Given the description of an element on the screen output the (x, y) to click on. 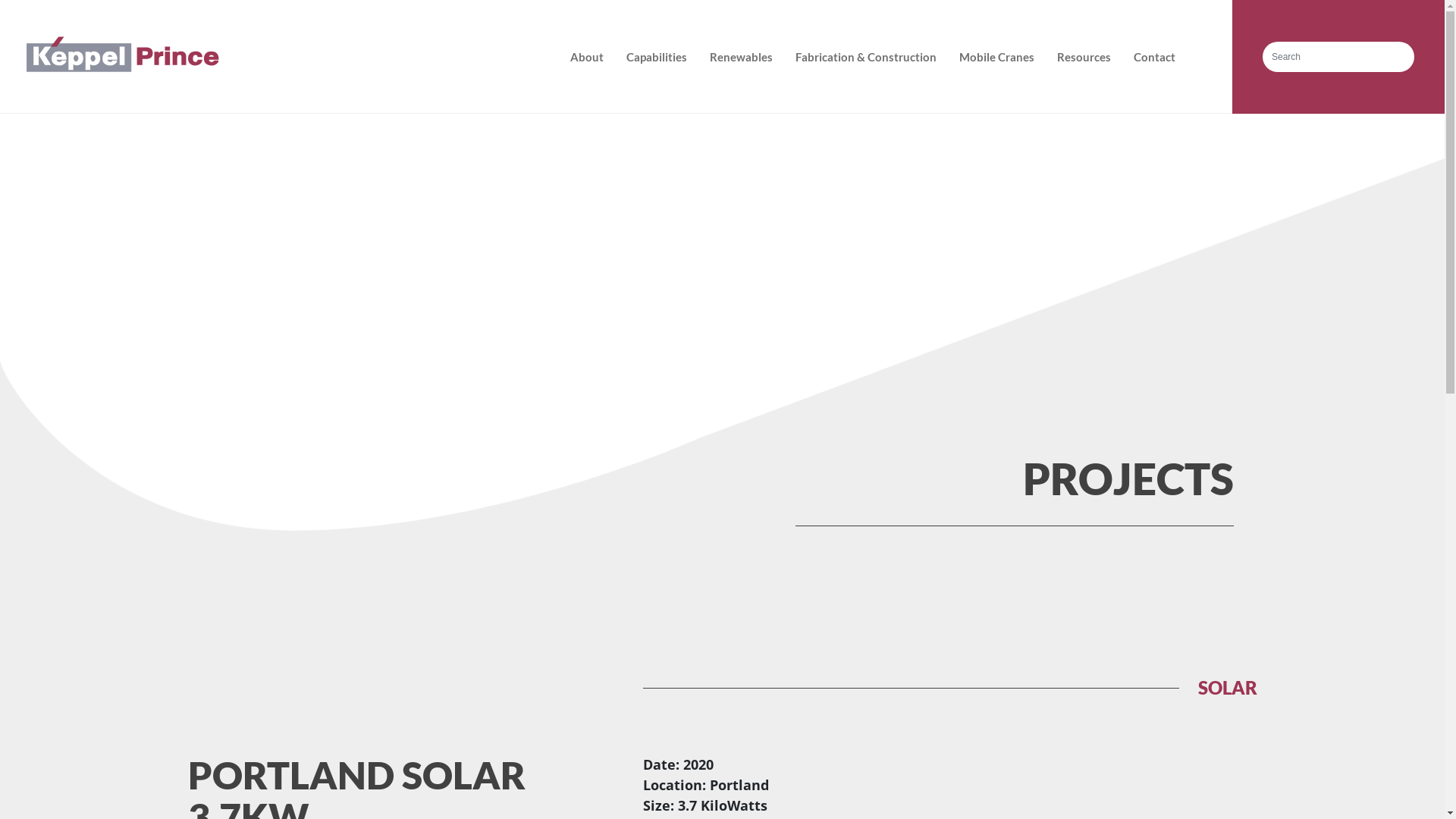
Mobile Cranes Element type: text (996, 56)
Contact Element type: text (1154, 56)
Fabrication & Construction Element type: text (865, 56)
Resources Element type: text (1083, 56)
About Element type: text (586, 56)
Capabilities Element type: text (656, 56)
Renewables Element type: text (741, 56)
